Given the description of an element on the screen output the (x, y) to click on. 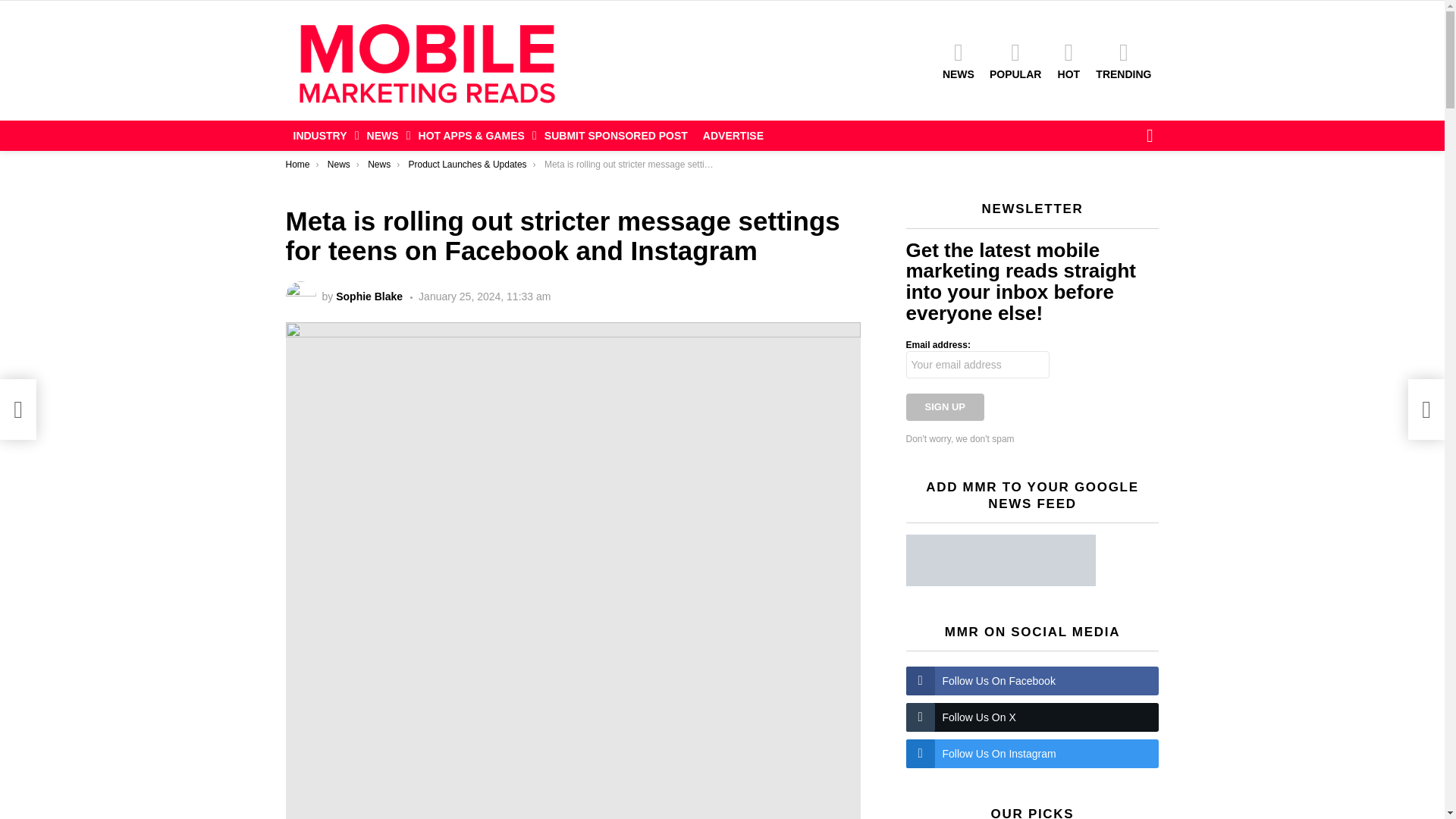
Posts by Sophie Blake (369, 296)
SUBMIT SPONSORED POST (616, 135)
Sign up (944, 406)
TRENDING (1122, 60)
INDUSTRY (321, 135)
POPULAR (1014, 60)
ADVERTISE (733, 135)
NEWS (384, 135)
NEWS (957, 60)
HOT (1067, 60)
